Given the description of an element on the screen output the (x, y) to click on. 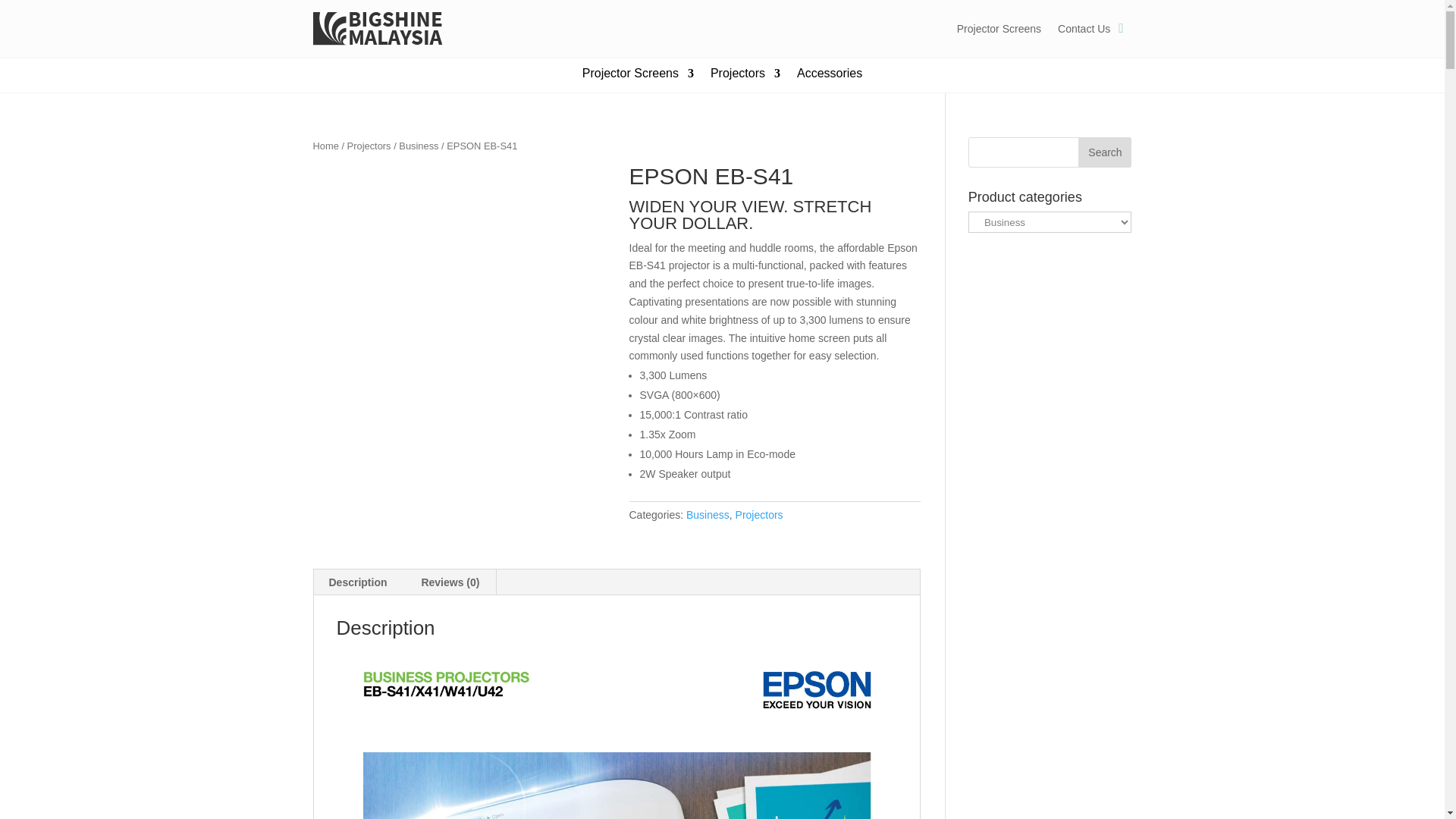
Business (418, 145)
Accessories (828, 76)
Home (325, 145)
Projector Screens (638, 76)
Business (707, 514)
Projectors (745, 76)
Projectors (369, 145)
Contact Us (1083, 28)
Description (358, 582)
Projector Screens (998, 28)
